Given the description of an element on the screen output the (x, y) to click on. 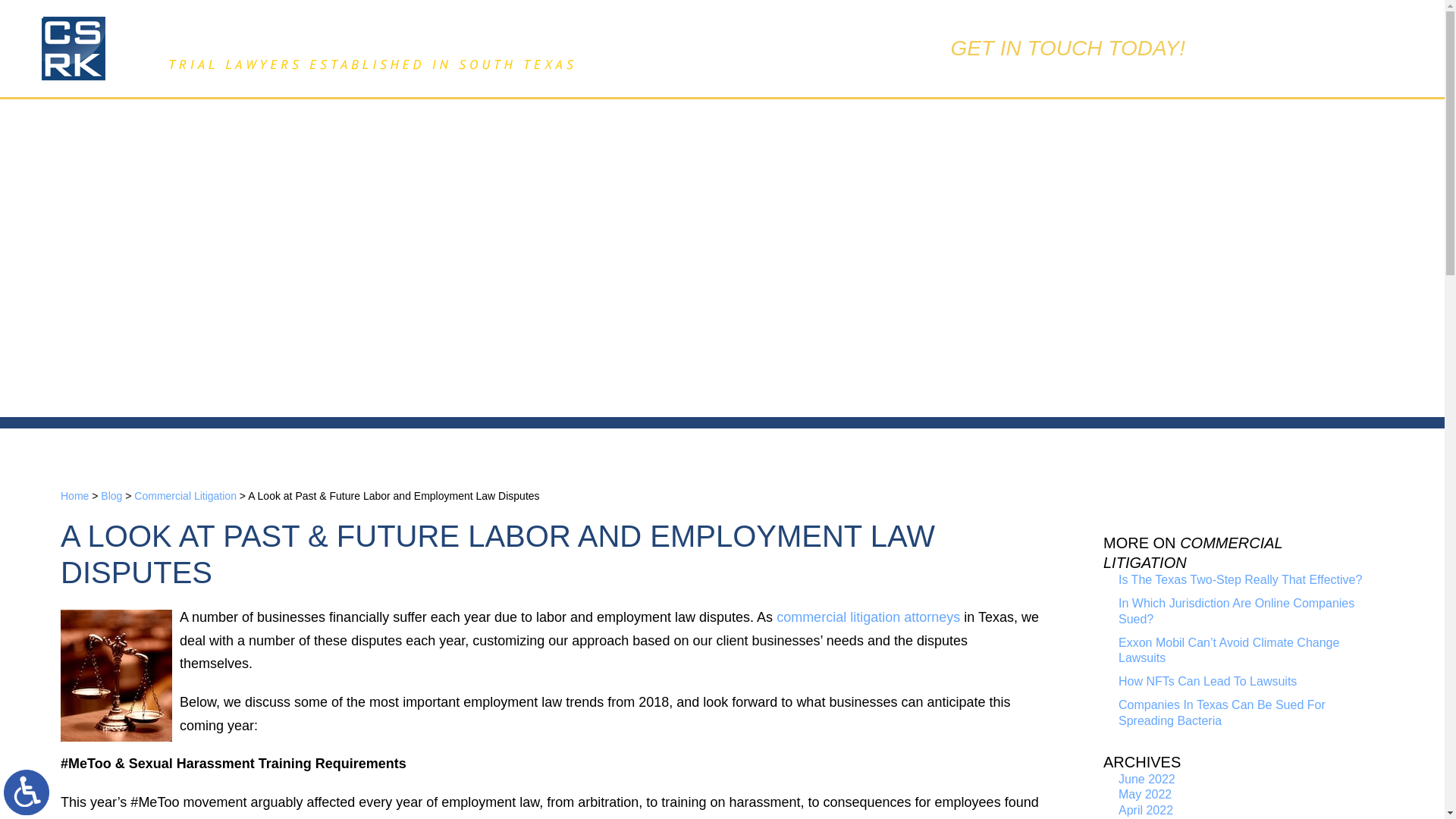
Practice Areas (694, 121)
Home (74, 495)
Trial Activity (852, 121)
Blog (111, 495)
Our Firm (547, 121)
Commercial Litigation (184, 495)
Contact Us (997, 121)
Home (428, 121)
Is The Texas Two-Step Really That Effective? (1239, 579)
commercial litigation attorneys (867, 616)
